Given the description of an element on the screen output the (x, y) to click on. 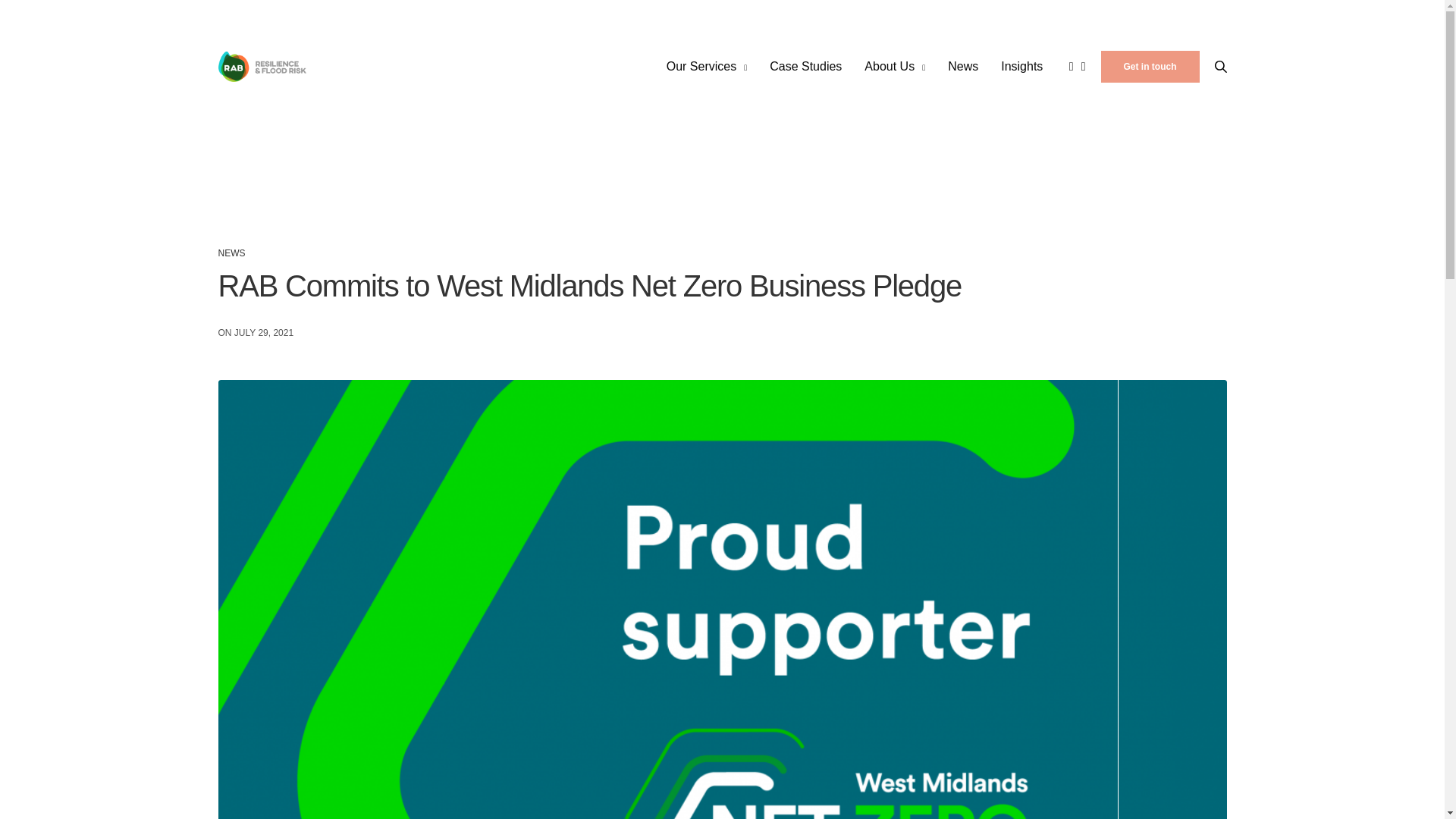
NEWS (232, 252)
Insights (1021, 66)
Case Studies (805, 66)
Get in touch (1149, 66)
Our Services (707, 66)
RAB Consultants (261, 66)
Get in touch (1149, 66)
About Us (894, 66)
